Given the description of an element on the screen output the (x, y) to click on. 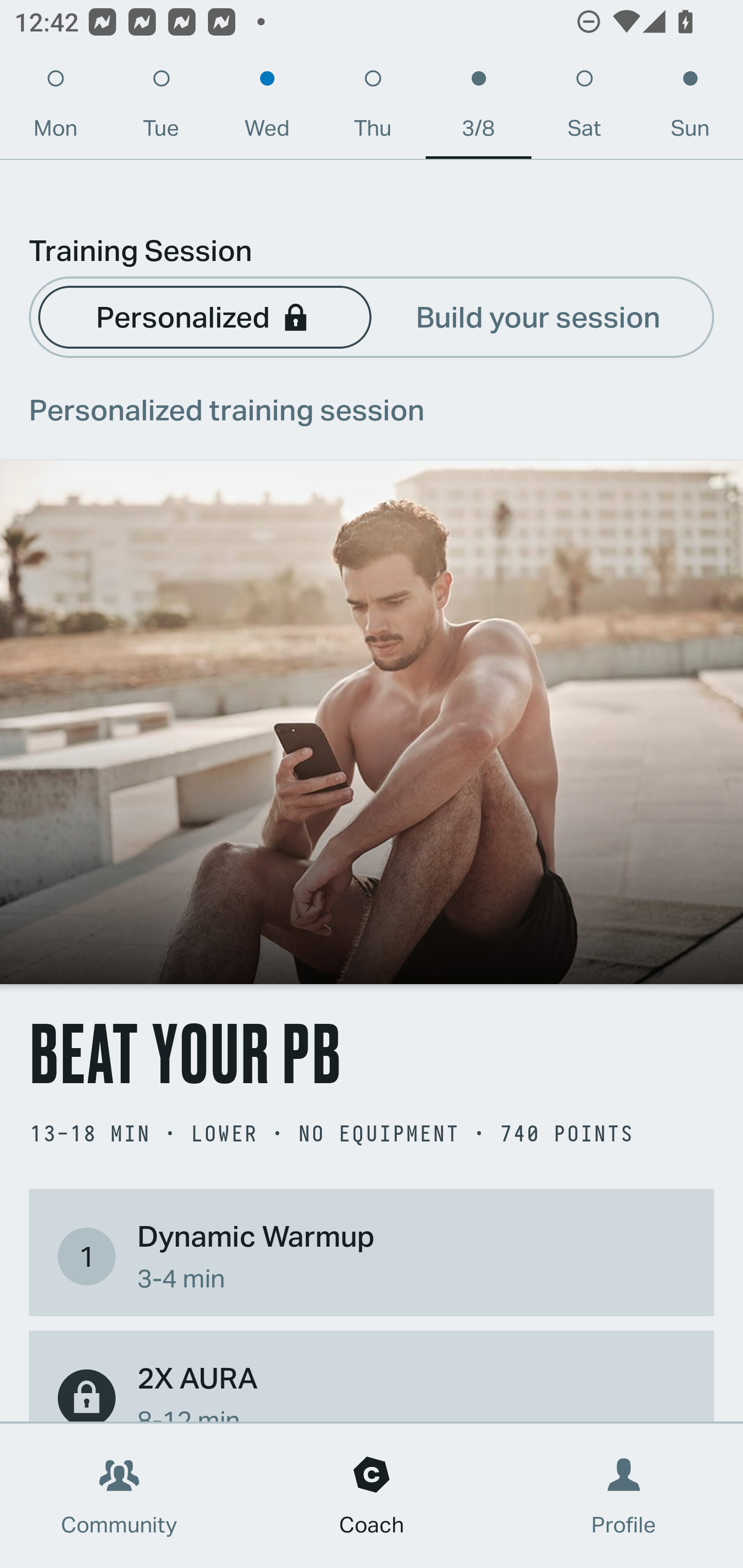
Mon (55, 108)
Tue (160, 108)
Wed (266, 108)
Thu (372, 108)
3/8 (478, 108)
Sat (584, 108)
Sun (690, 108)
Personalized (204, 315)
Build your session (538, 315)
1 Dynamic Warmup 3-4 min (371, 1256)
2X AURA 8-12 min (371, 1388)
Community (119, 1495)
Profile (624, 1495)
